Given the description of an element on the screen output the (x, y) to click on. 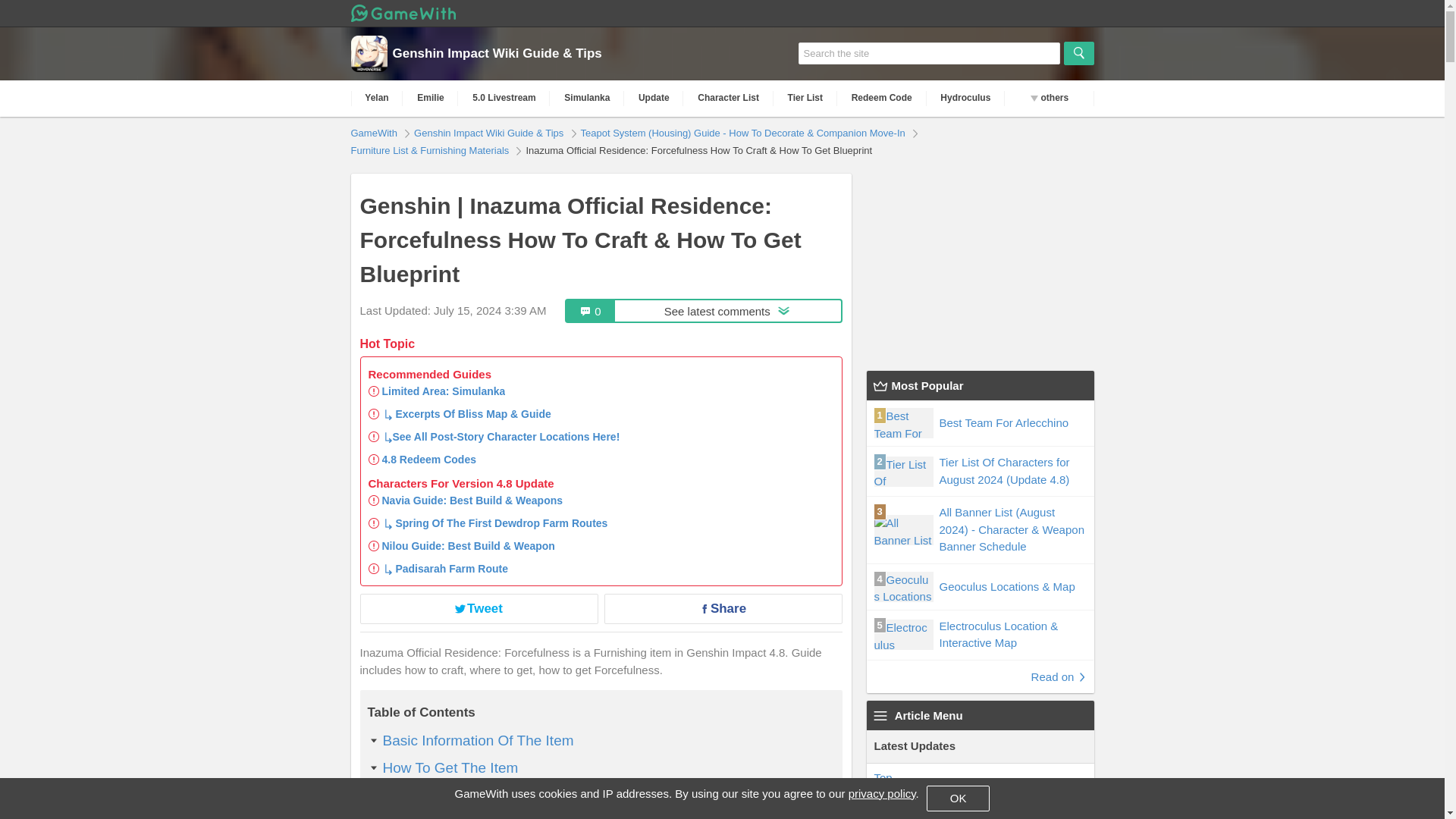
Hydroculus (966, 98)
Emilie (430, 98)
GameWith (375, 132)
Redeem Code (881, 98)
Tier List (805, 98)
Character List (727, 98)
How To Get The Item (703, 310)
Yelan (449, 767)
Basic Information Of The Item (376, 98)
